Given the description of an element on the screen output the (x, y) to click on. 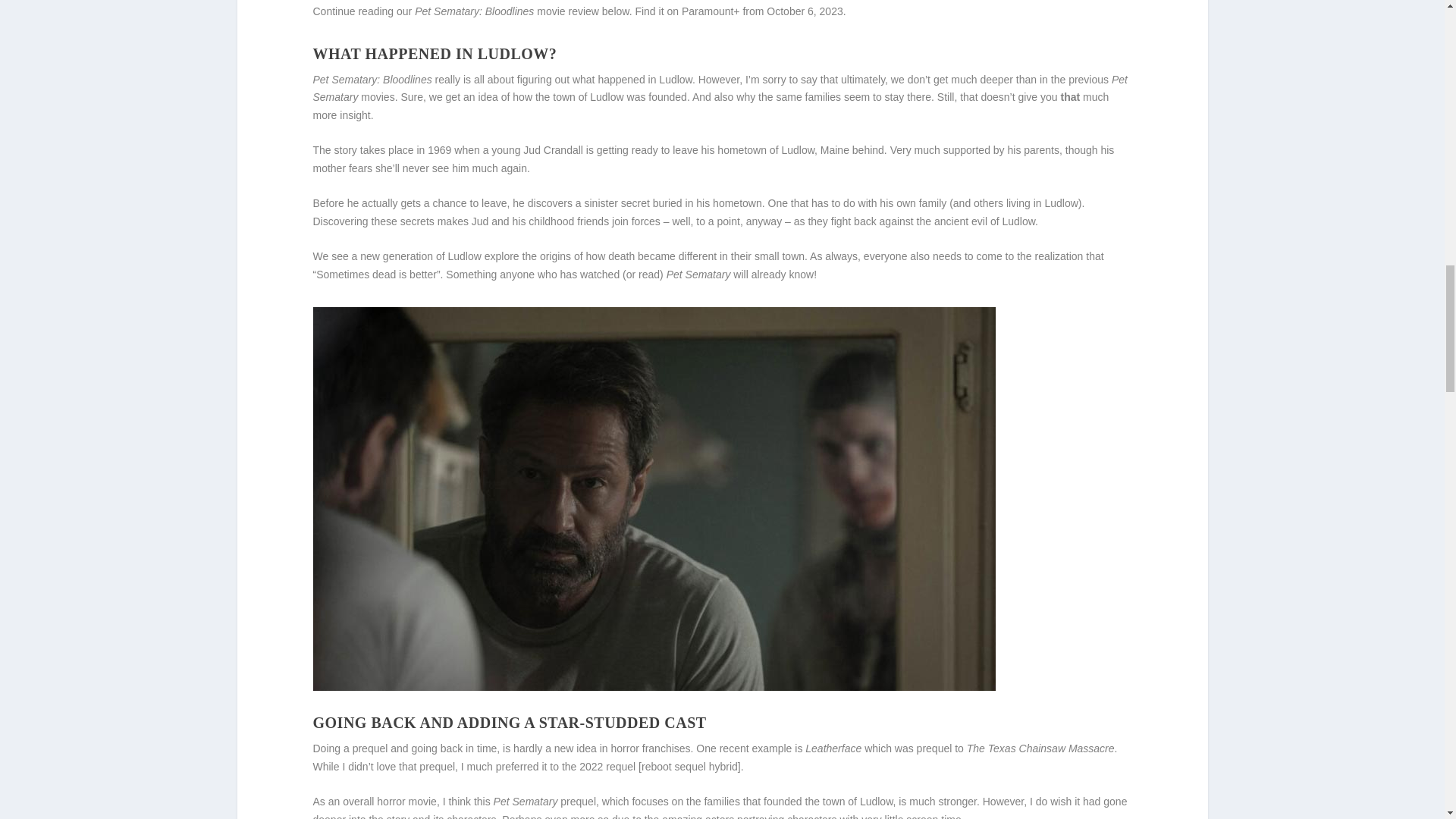
2022 requel (606, 766)
The Texas Chainsaw Massacre (1040, 748)
Leatherface (833, 748)
